Given the description of an element on the screen output the (x, y) to click on. 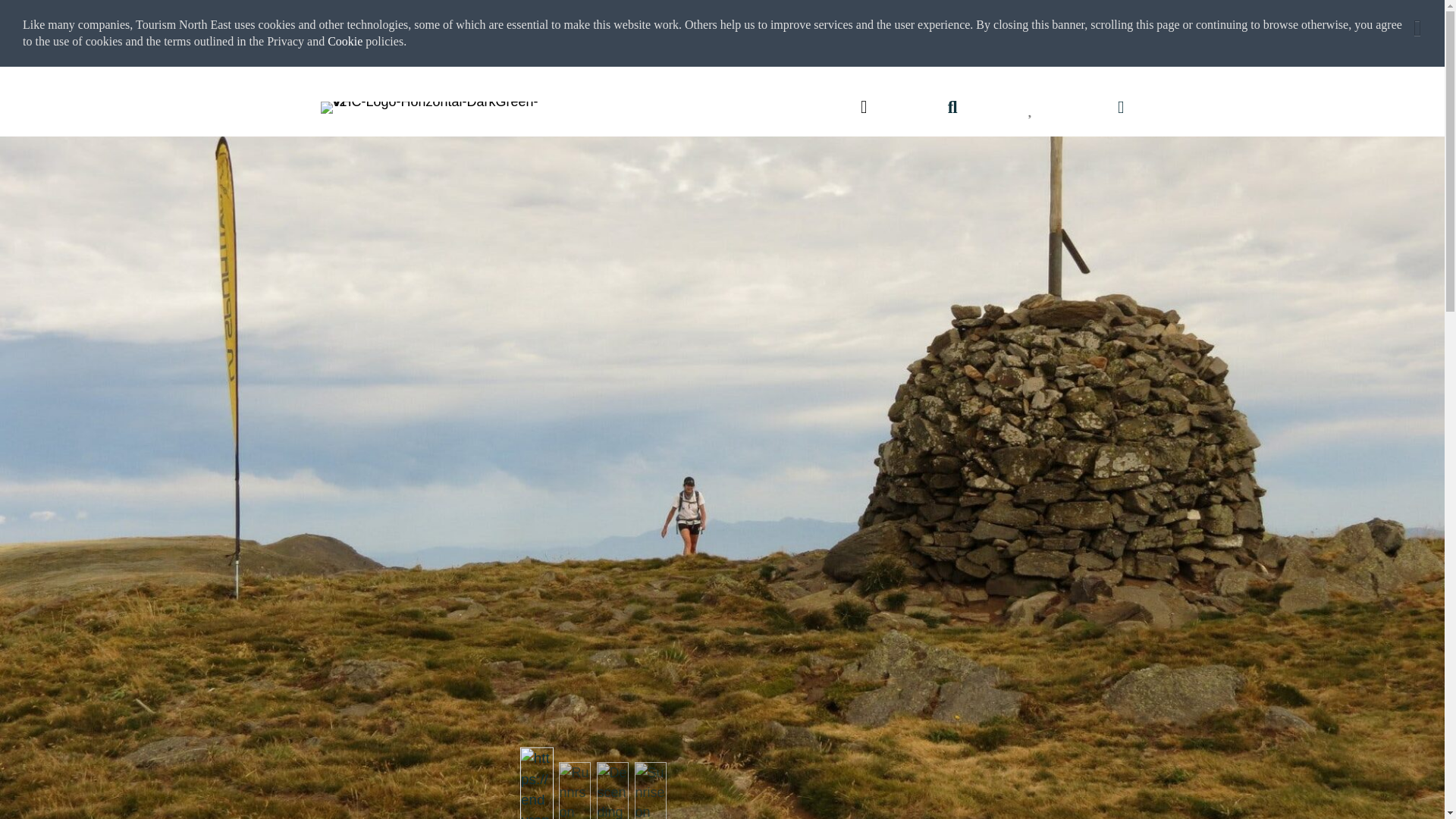
Privacy (286, 41)
VHC-Logo-Horizontal-DarkGreen-v2 (433, 107)
Cookie (344, 41)
Like and share your Wishlist (1031, 106)
